Given the description of an element on the screen output the (x, y) to click on. 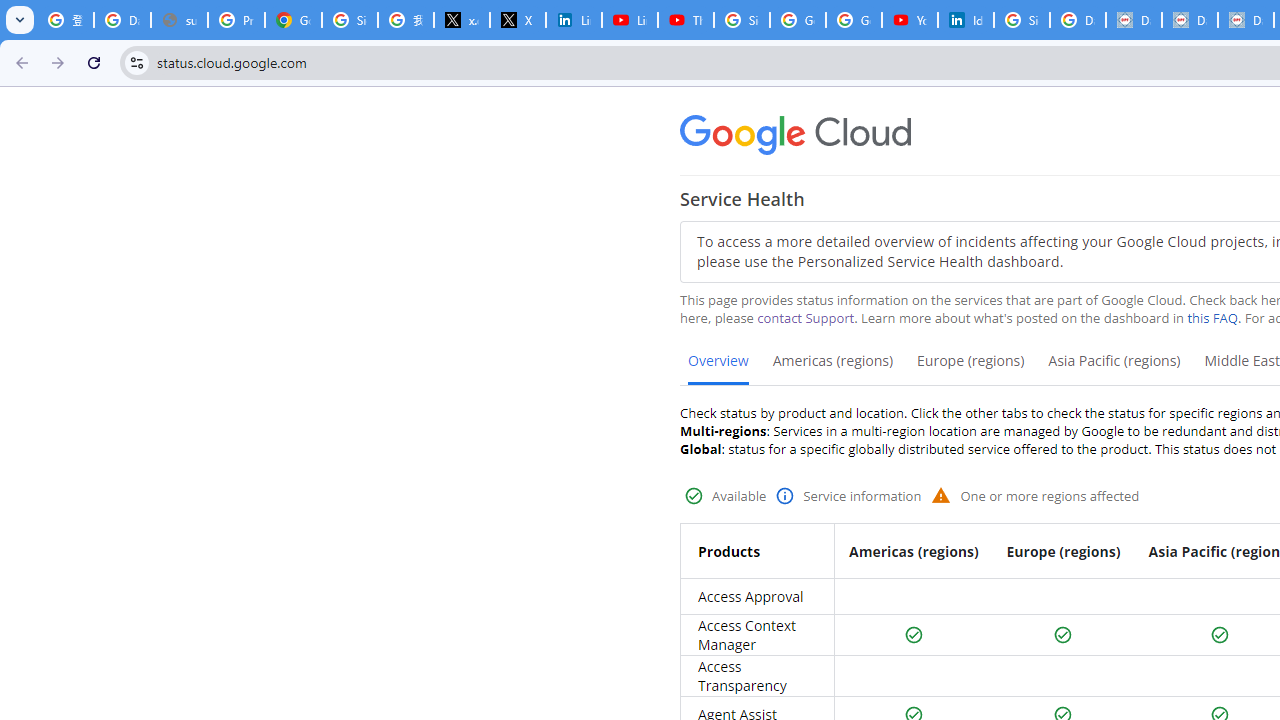
Americas (regions) (832, 368)
Sign in - Google Accounts (349, 20)
Privacy Help Center - Policies Help (235, 20)
